Given the description of an element on the screen output the (x, y) to click on. 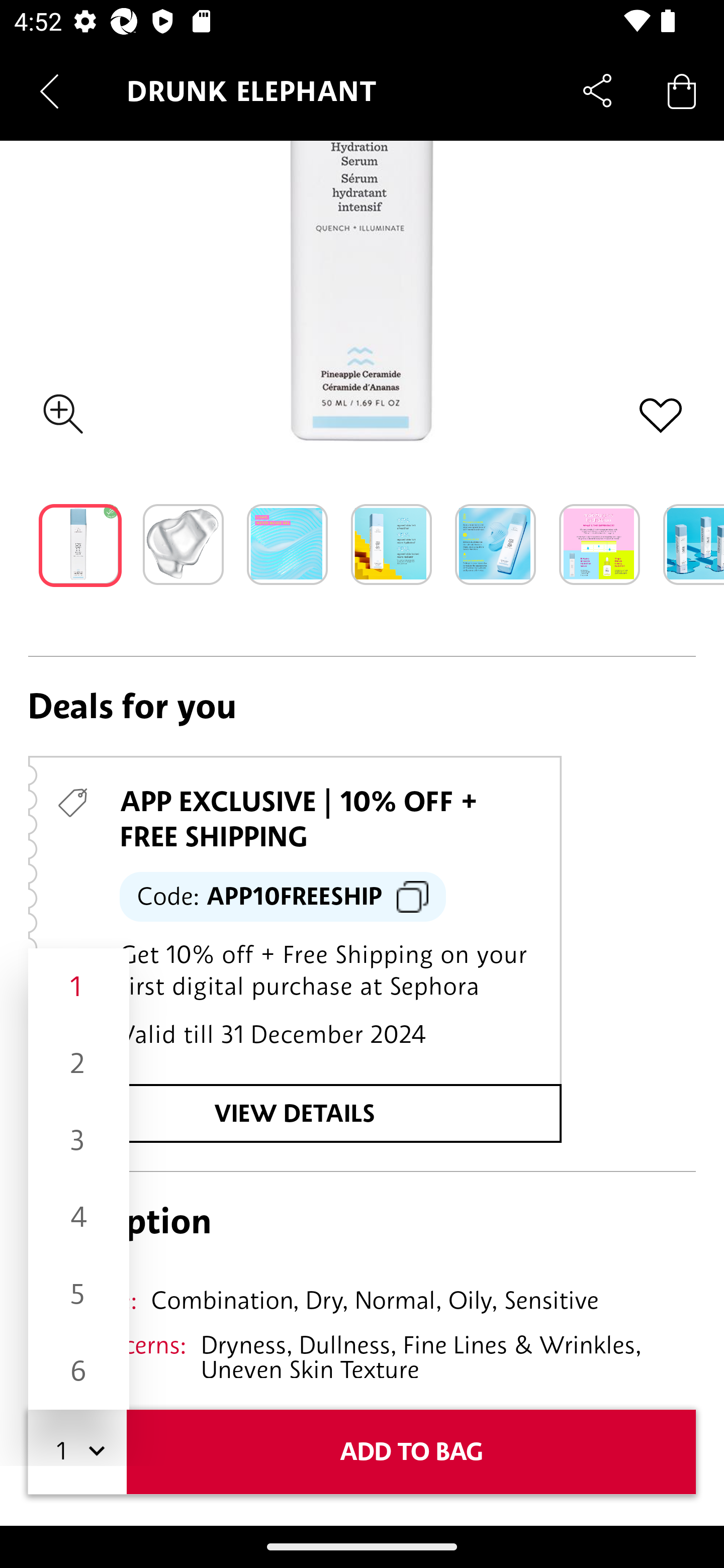
1 (78, 986)
2 (78, 1063)
3 (78, 1140)
4 (78, 1217)
5 (78, 1293)
6 (78, 1370)
